Given the description of an element on the screen output the (x, y) to click on. 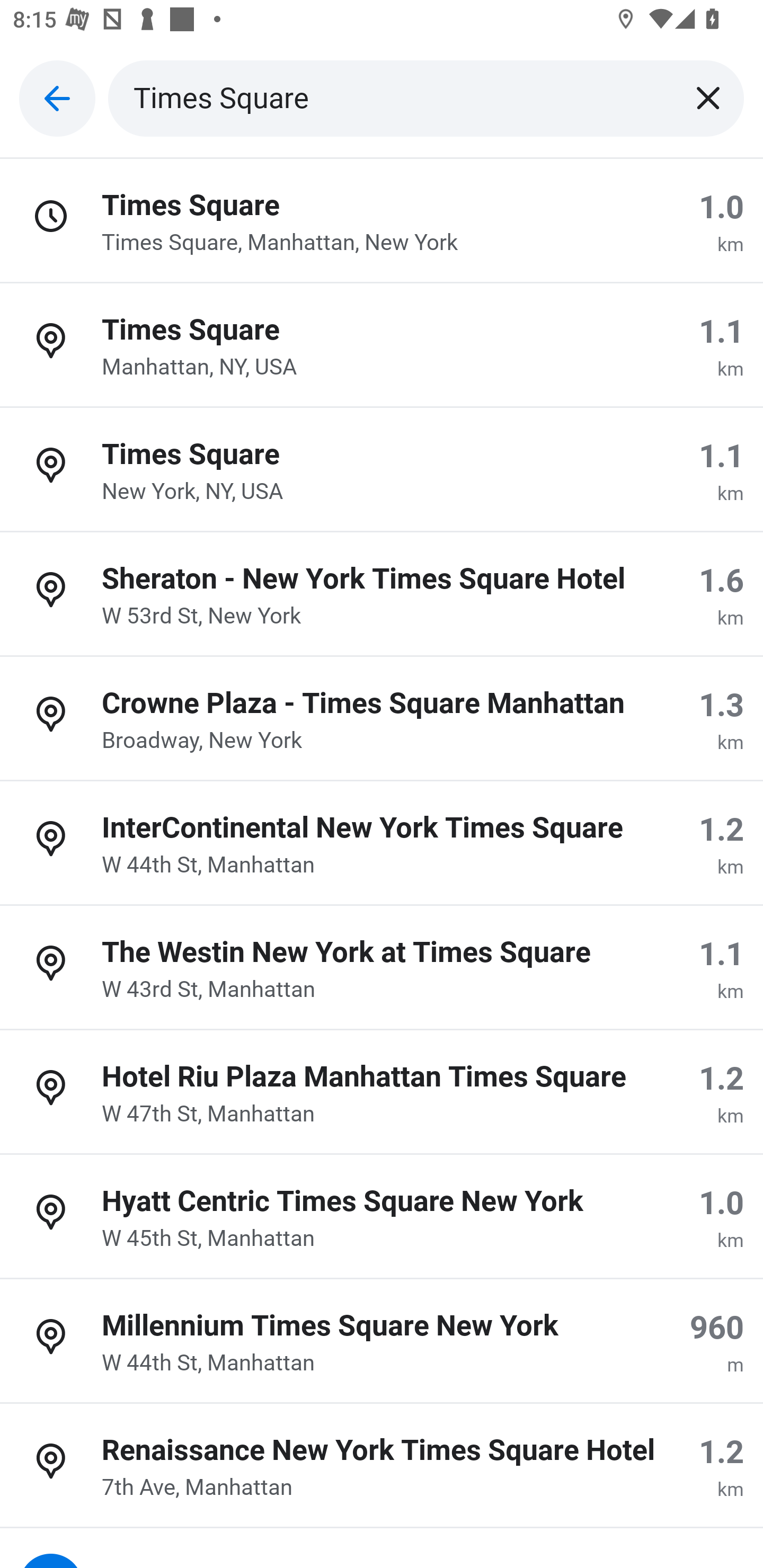
Times Square sideMenuSearchBox (425, 98)
Times Square Manhattan, NY, USA 1.1 km (381, 345)
Times Square New York, NY, USA 1.1 km (381, 470)
